Given the description of an element on the screen output the (x, y) to click on. 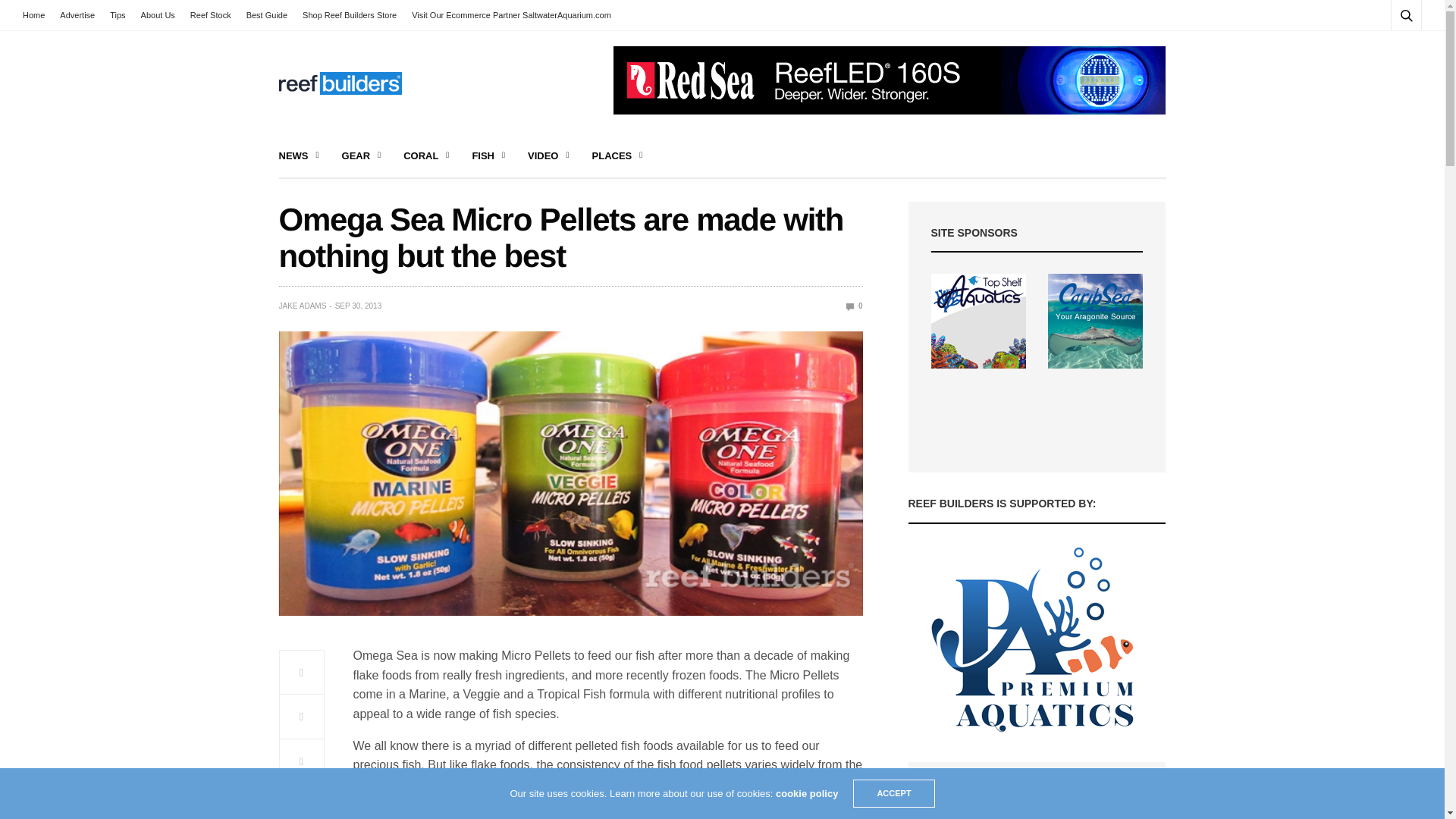
Home (37, 15)
Search (1386, 51)
Shop Reef Builders Store (349, 15)
Reef Stock (210, 15)
Visit Our Ecommerce Partner SaltwaterAquarium.com (511, 15)
GEAR (361, 156)
Posts by Jake Adams (302, 306)
About Us (158, 15)
NEWS (298, 156)
Omega Sea Micro Pellets are made with nothing but the best (853, 306)
Advertise (76, 15)
Best Guide (266, 15)
Tips (116, 15)
